Given the description of an element on the screen output the (x, y) to click on. 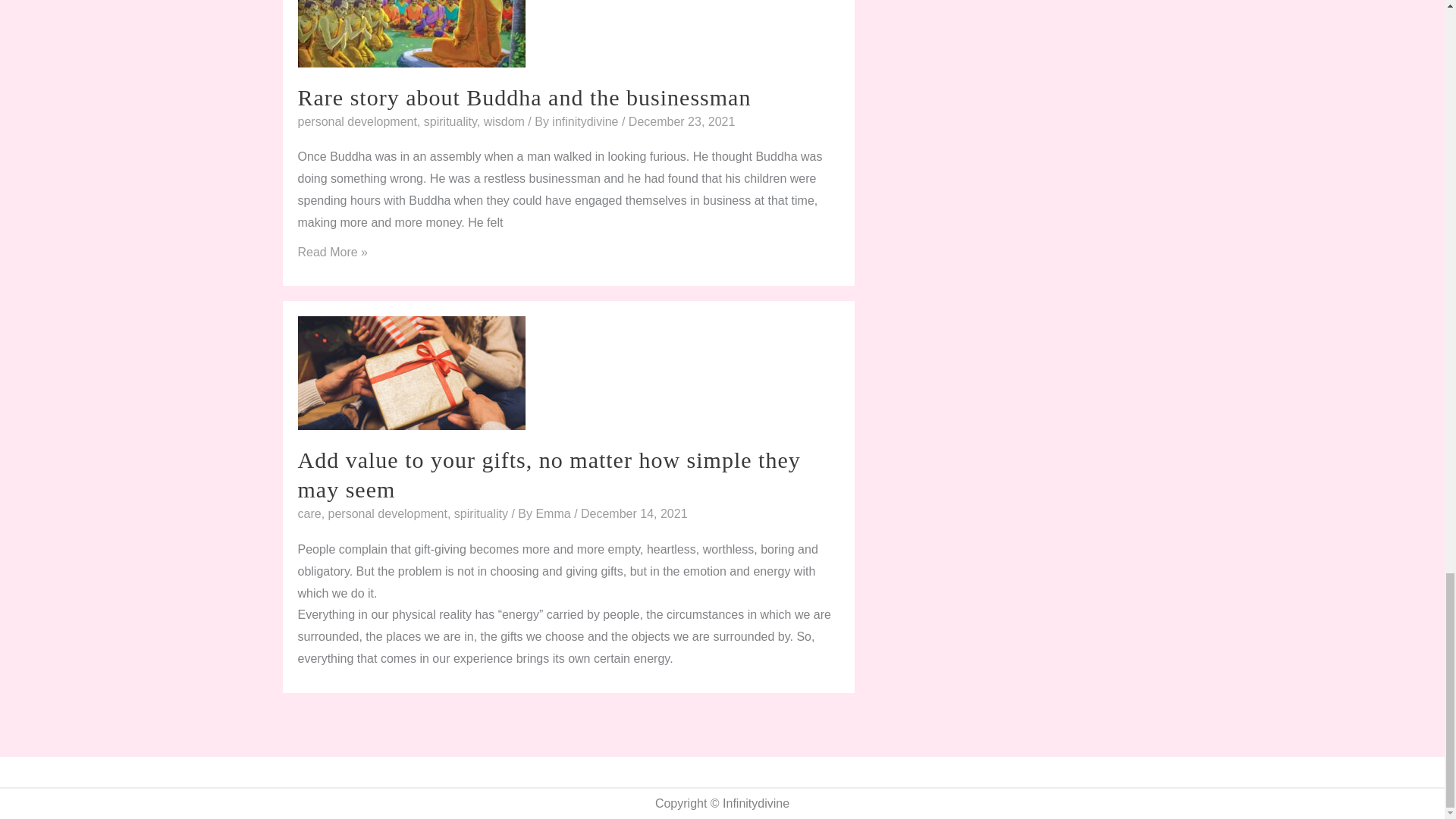
View all posts by infinitydivine (586, 121)
View all posts by Emma (554, 513)
